Given the description of an element on the screen output the (x, y) to click on. 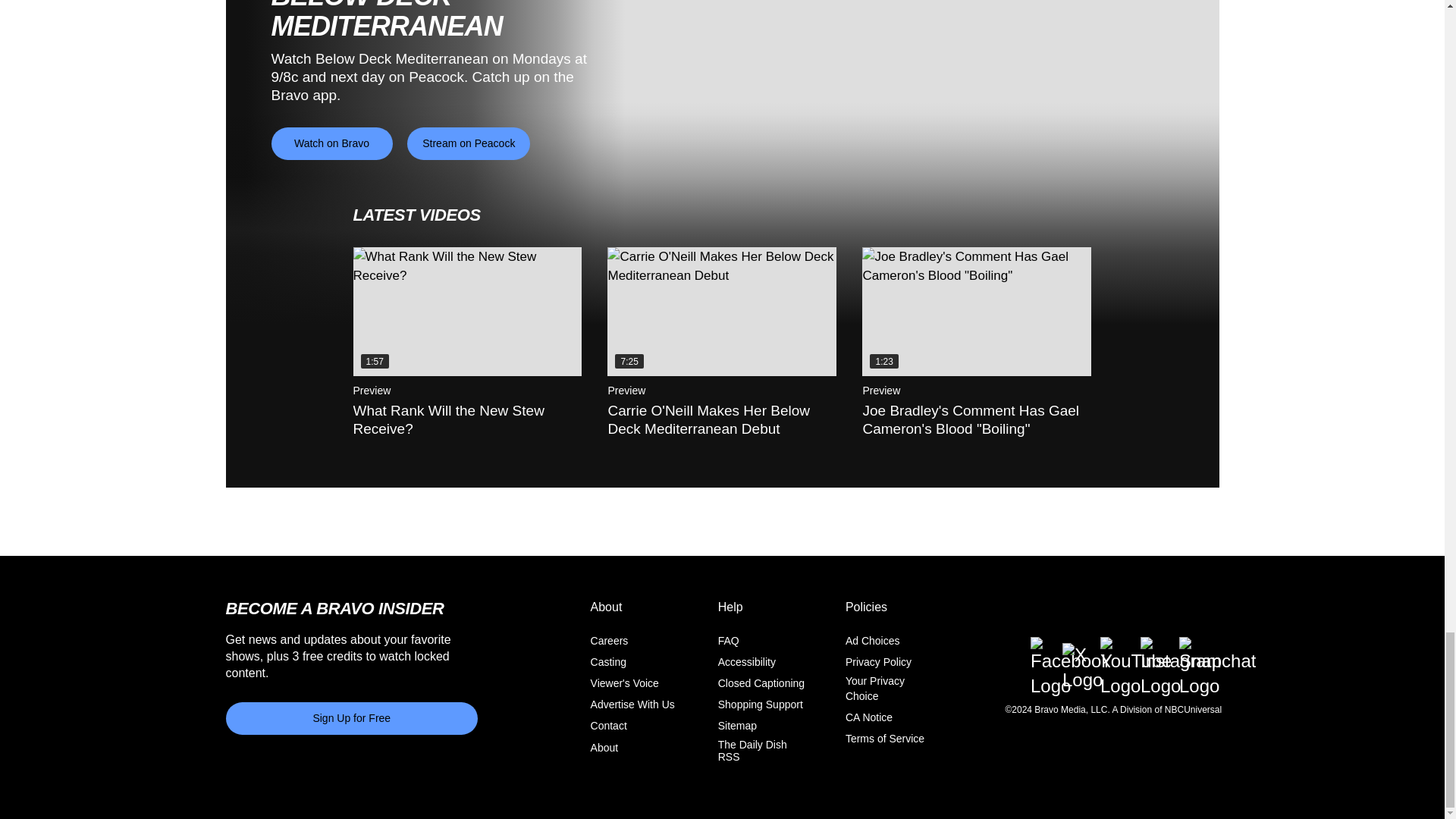
Carrie O'Neill Makes Her Below Deck Mediterranean Debut (721, 311)
Joe Bradley's Comment Has Gael Cameron's Blood "Boiling" (975, 311)
Advertise With Us (633, 704)
What Rank Will the New Stew Receive? (467, 311)
